Given the description of an element on the screen output the (x, y) to click on. 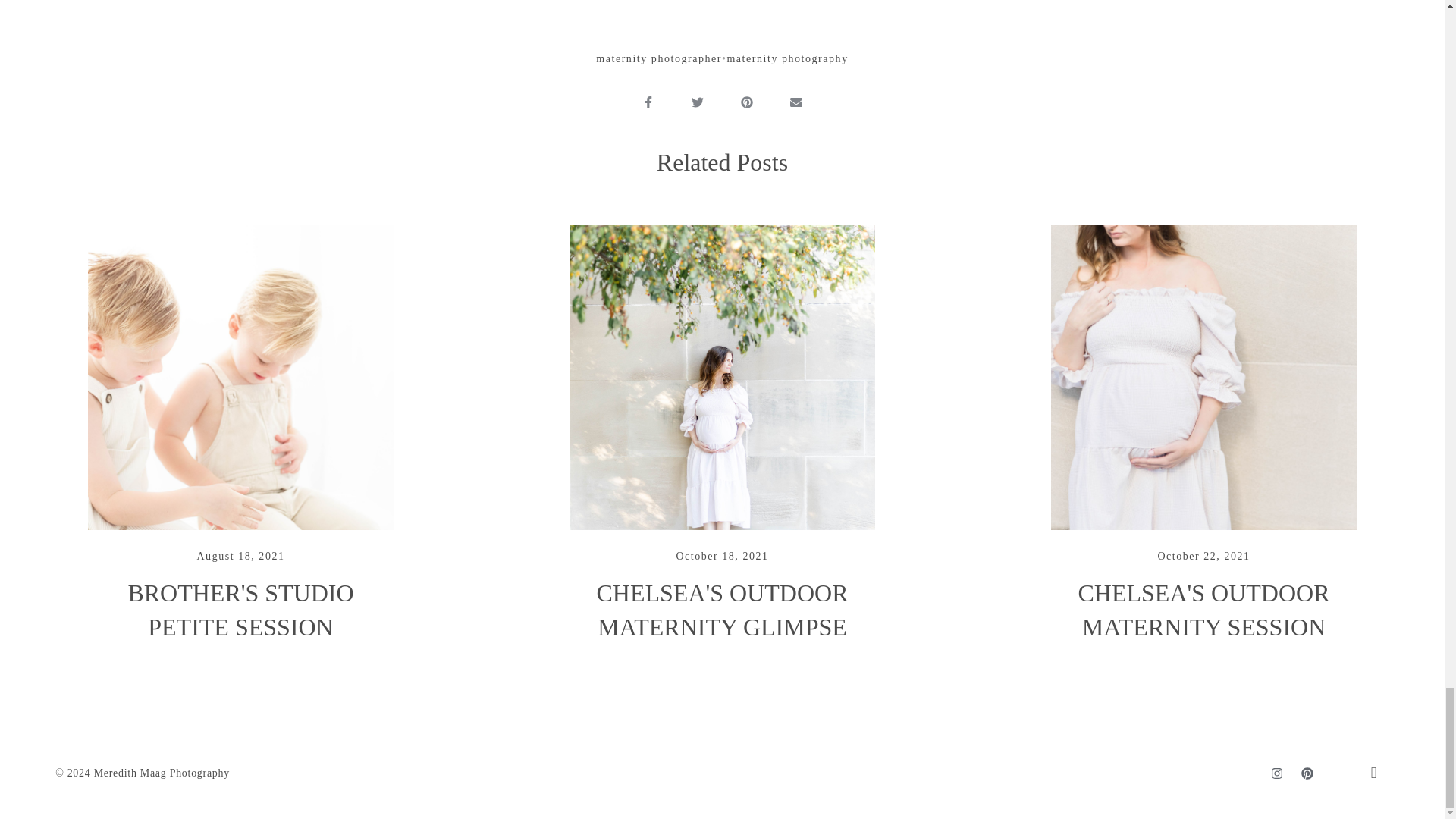
maternity photography (786, 58)
